Given the description of an element on the screen output the (x, y) to click on. 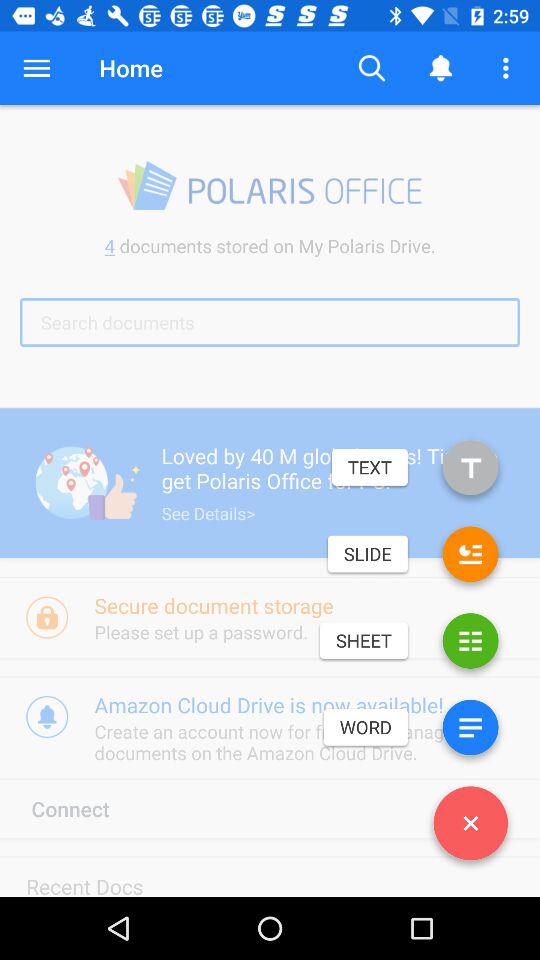
open slides (470, 558)
